Given the description of an element on the screen output the (x, y) to click on. 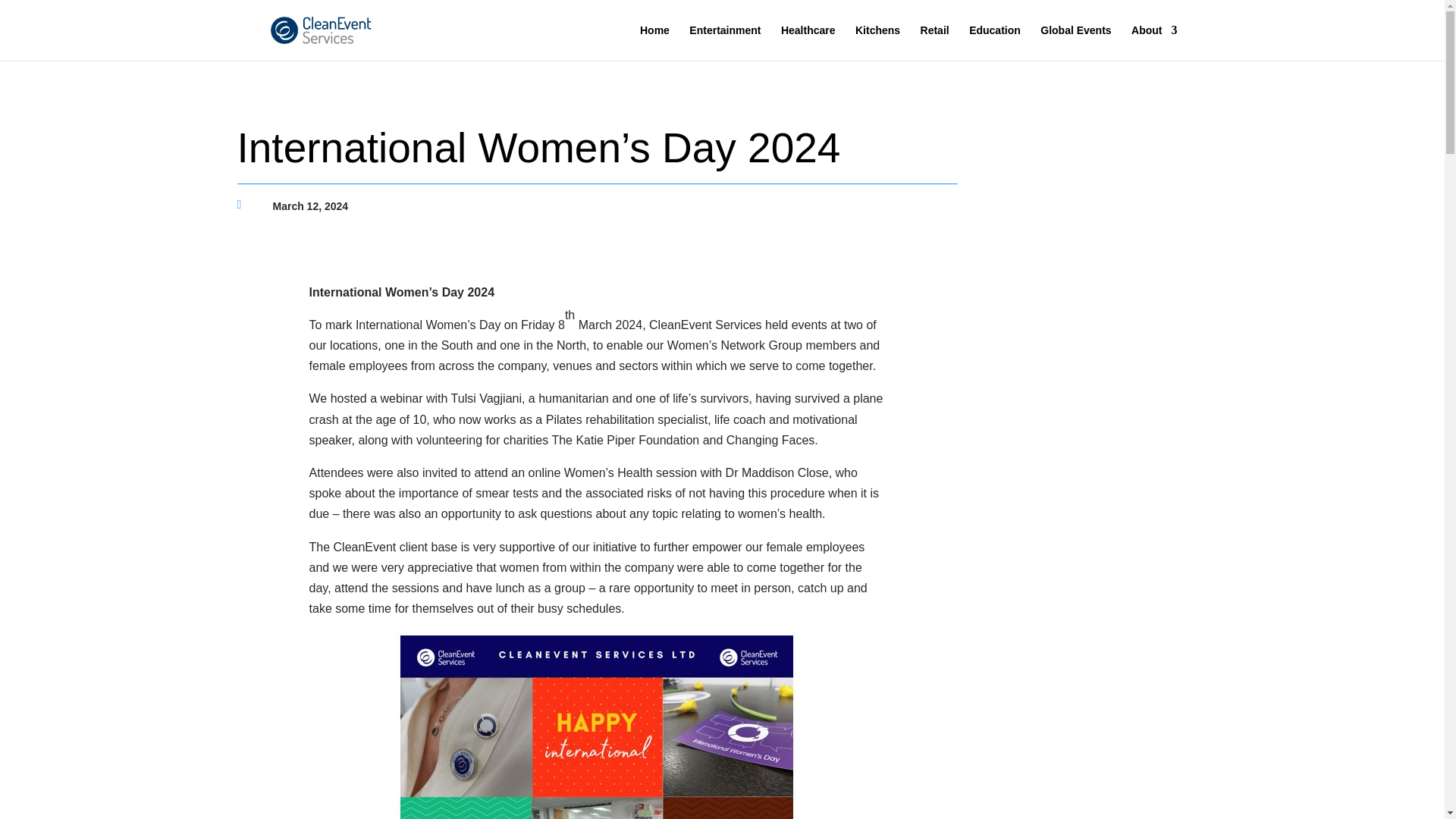
About (1153, 42)
Entertainment (724, 42)
dayofwomen (597, 724)
Healthcare (807, 42)
Kitchens (877, 42)
Global Events (1075, 42)
Education (994, 42)
